Given the description of an element on the screen output the (x, y) to click on. 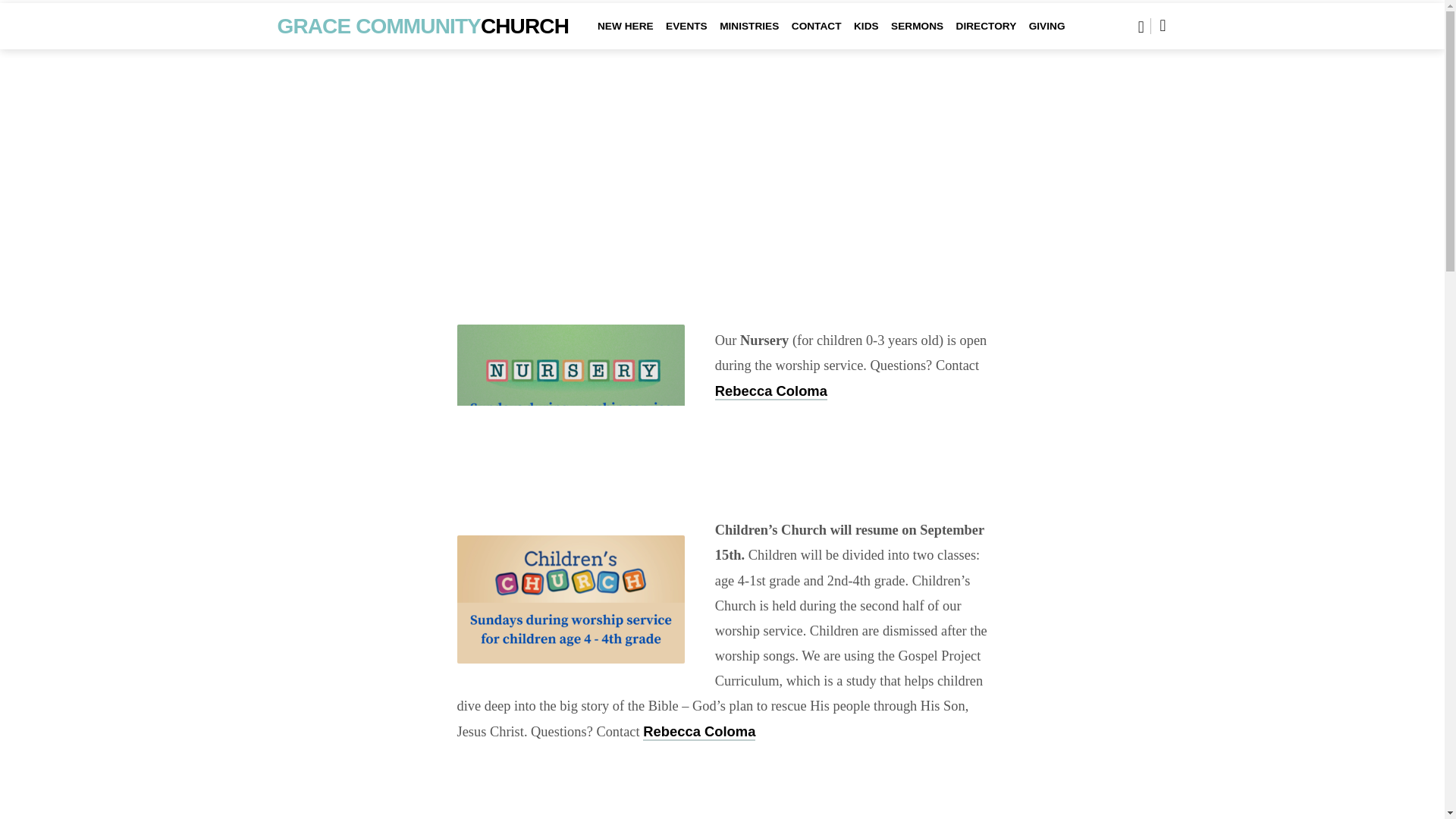
MINISTRIES (748, 35)
Rebecca Coloma (699, 732)
SERMONS (917, 35)
GIVING (1047, 35)
GRACE COMMUNITYCHURCH (423, 24)
Rebecca Coloma (770, 391)
CONTACT (816, 35)
Awana (737, 818)
EVENTS (686, 35)
DIRECTORY (986, 35)
